Given the description of an element on the screen output the (x, y) to click on. 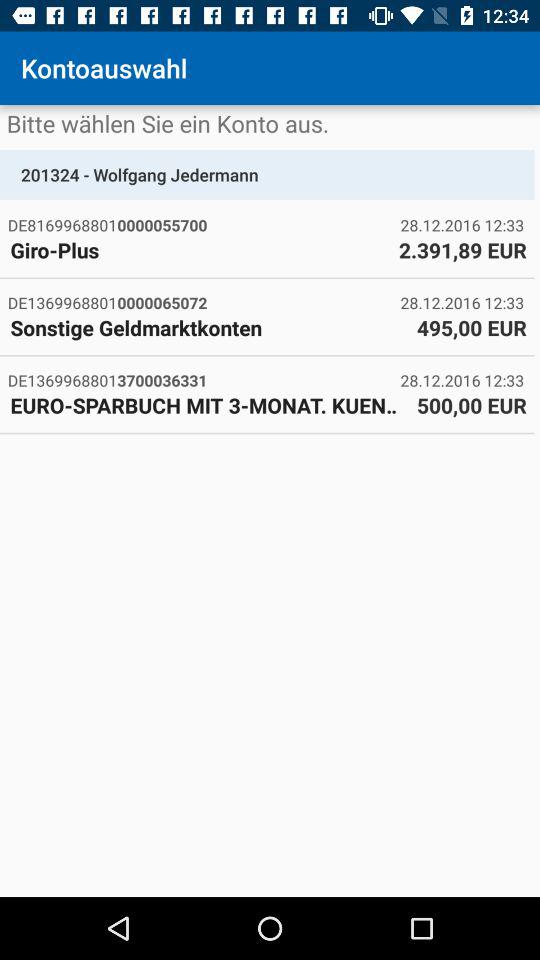
flip to the de81699688010000055700 (203, 224)
